Given the description of an element on the screen output the (x, y) to click on. 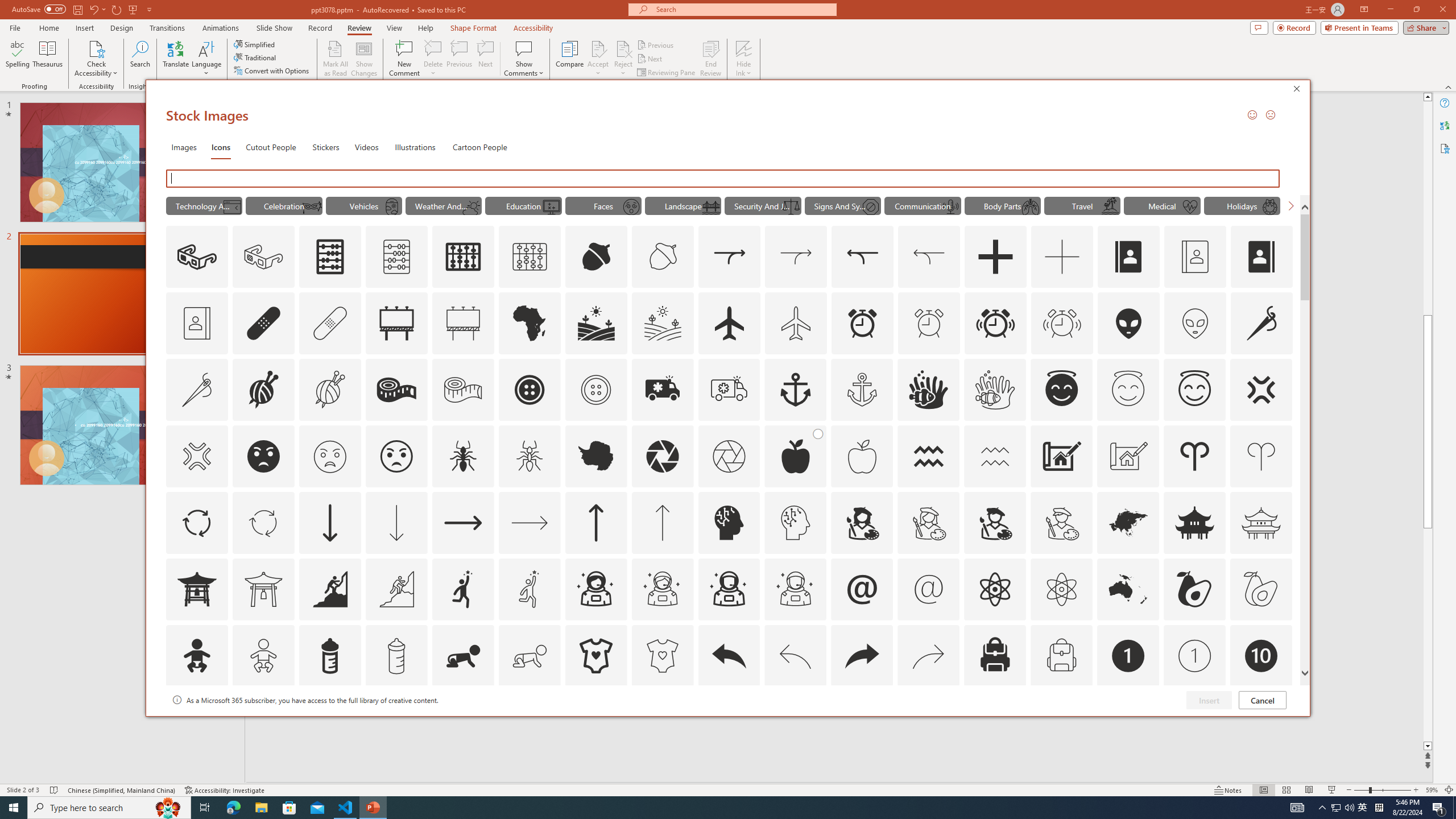
AutomationID: Icons_AlarmRinging (995, 323)
AutomationID: Icons_Badge5 (662, 721)
AutomationID: Icons_Acquisition_RTL (863, 256)
AutomationID: Icons_Badge8_M (1128, 721)
AutomationID: Icons_AngelFace_M (1128, 389)
AutomationID: Icons_Atom_M (1061, 588)
AutomationID: Icons_Africa (529, 323)
